Given the description of an element on the screen output the (x, y) to click on. 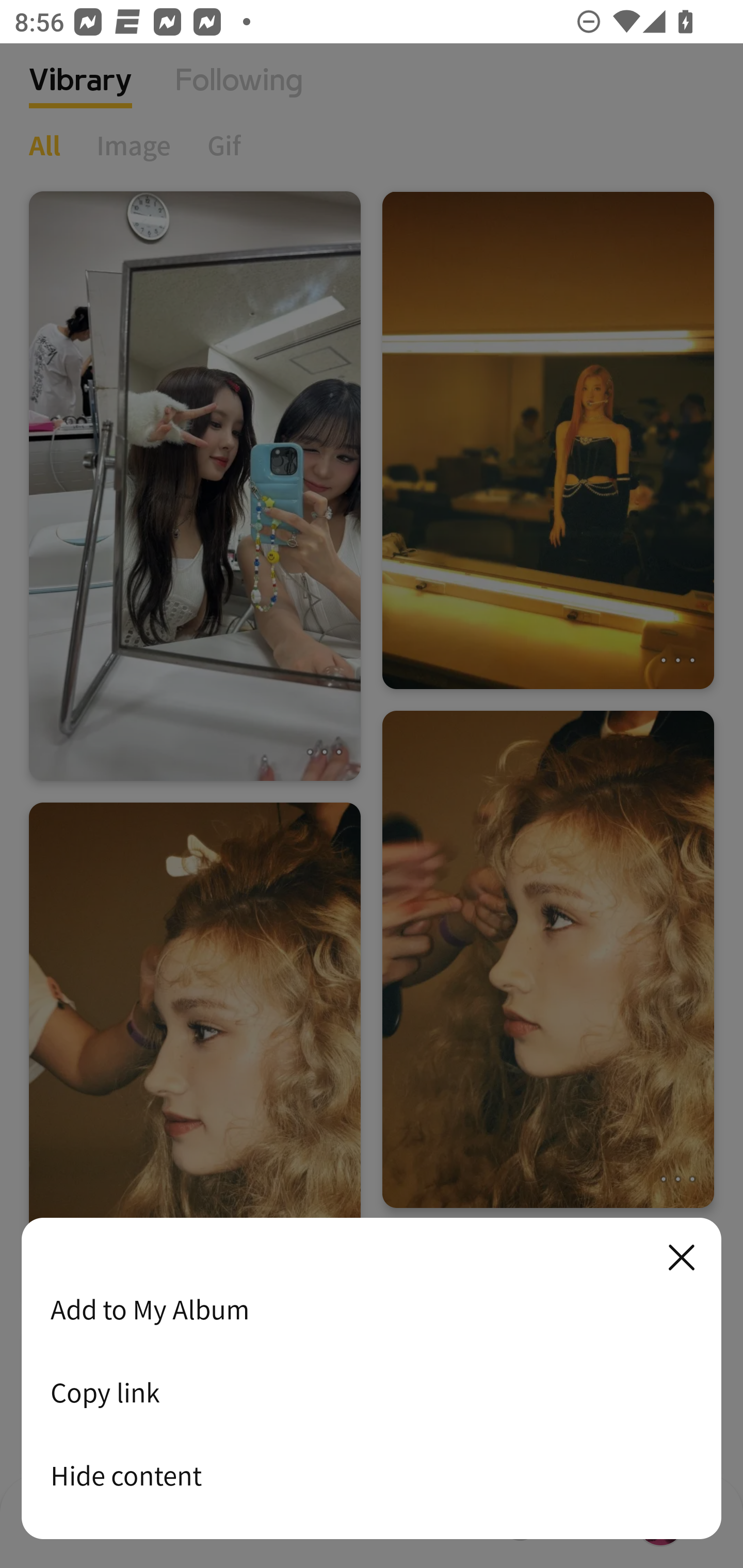
Add to My Album Copy link Hide content (371, 1378)
Add to My Album (371, 1308)
Copy link (371, 1391)
Hide content (371, 1474)
